Given the description of an element on the screen output the (x, y) to click on. 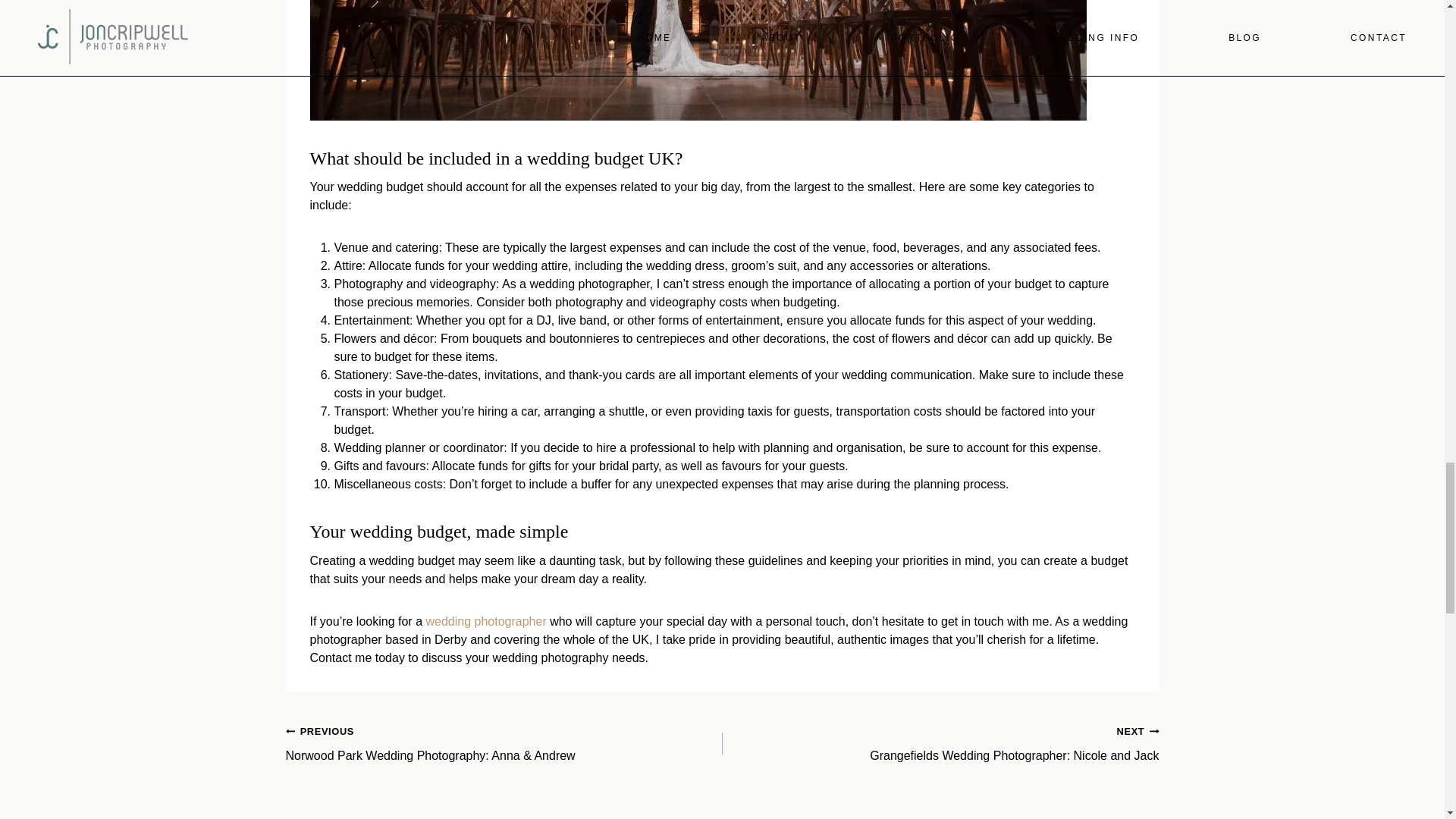
wedding photographer (487, 621)
